Given the description of an element on the screen output the (x, y) to click on. 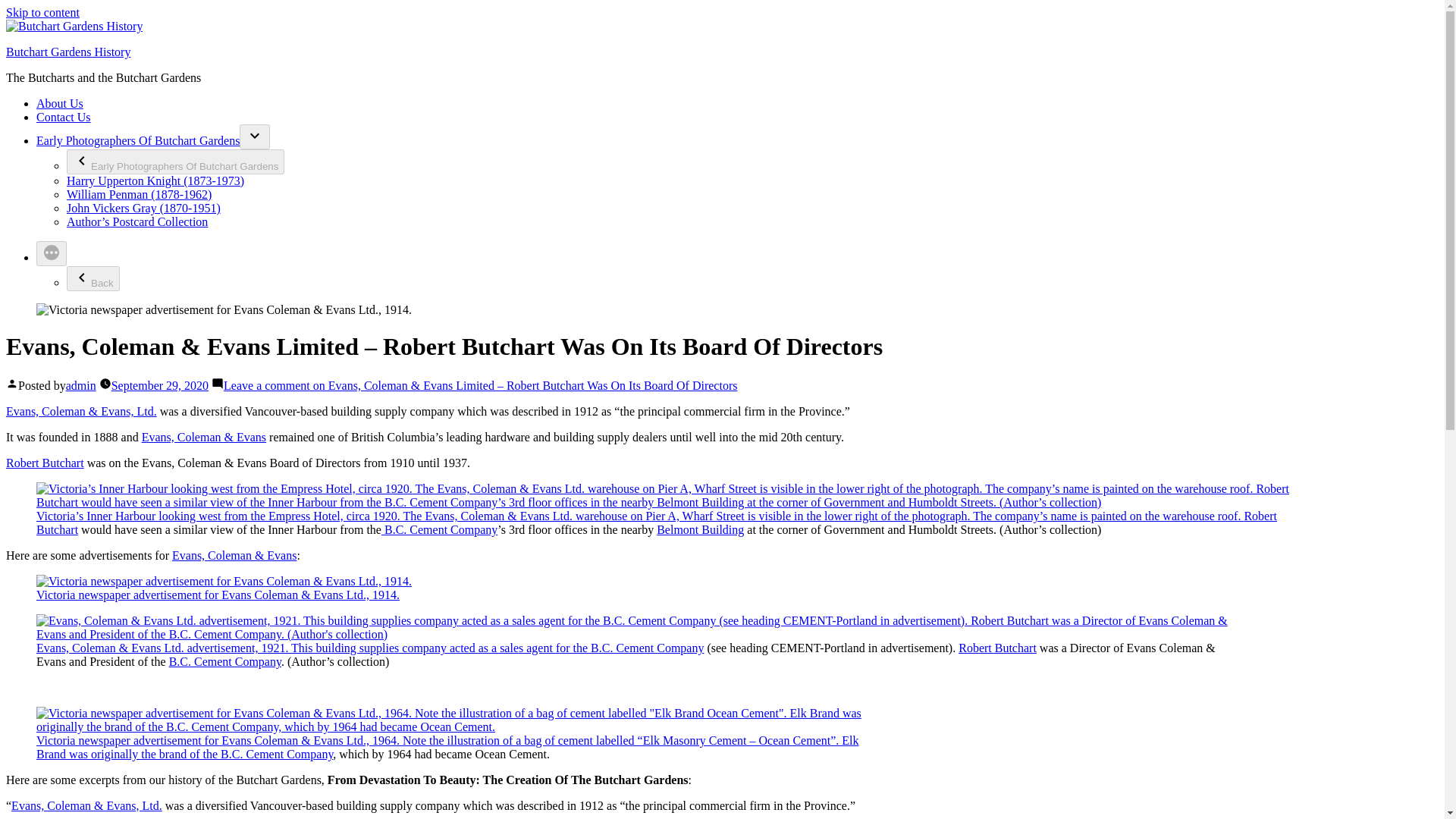
Skip to content (42, 11)
B.C. Cement Company (277, 753)
About Us (59, 103)
Contact Us (63, 116)
Belmont Building (700, 529)
Back (92, 278)
B.C. Cement Company (439, 529)
Butchart Gardens History (68, 51)
Robert Butchart (656, 522)
Robert Butchart (997, 647)
B.C. Cement Company (224, 661)
Early Photographers Of Butchart Gardens (174, 161)
B.C. Cement Company (647, 647)
Robert Butchart (44, 462)
September 29, 2020 (160, 385)
